Given the description of an element on the screen output the (x, y) to click on. 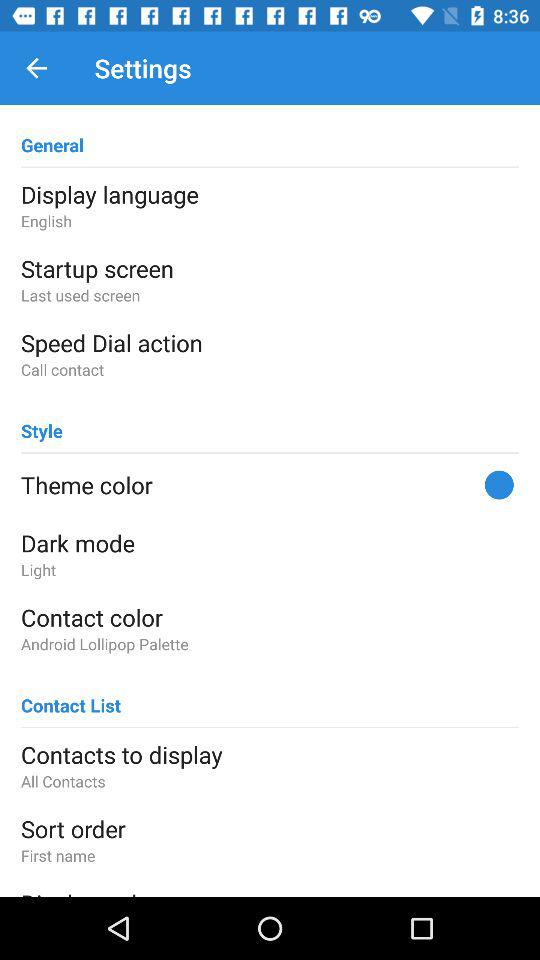
swipe until style (41, 421)
